Given the description of an element on the screen output the (x, y) to click on. 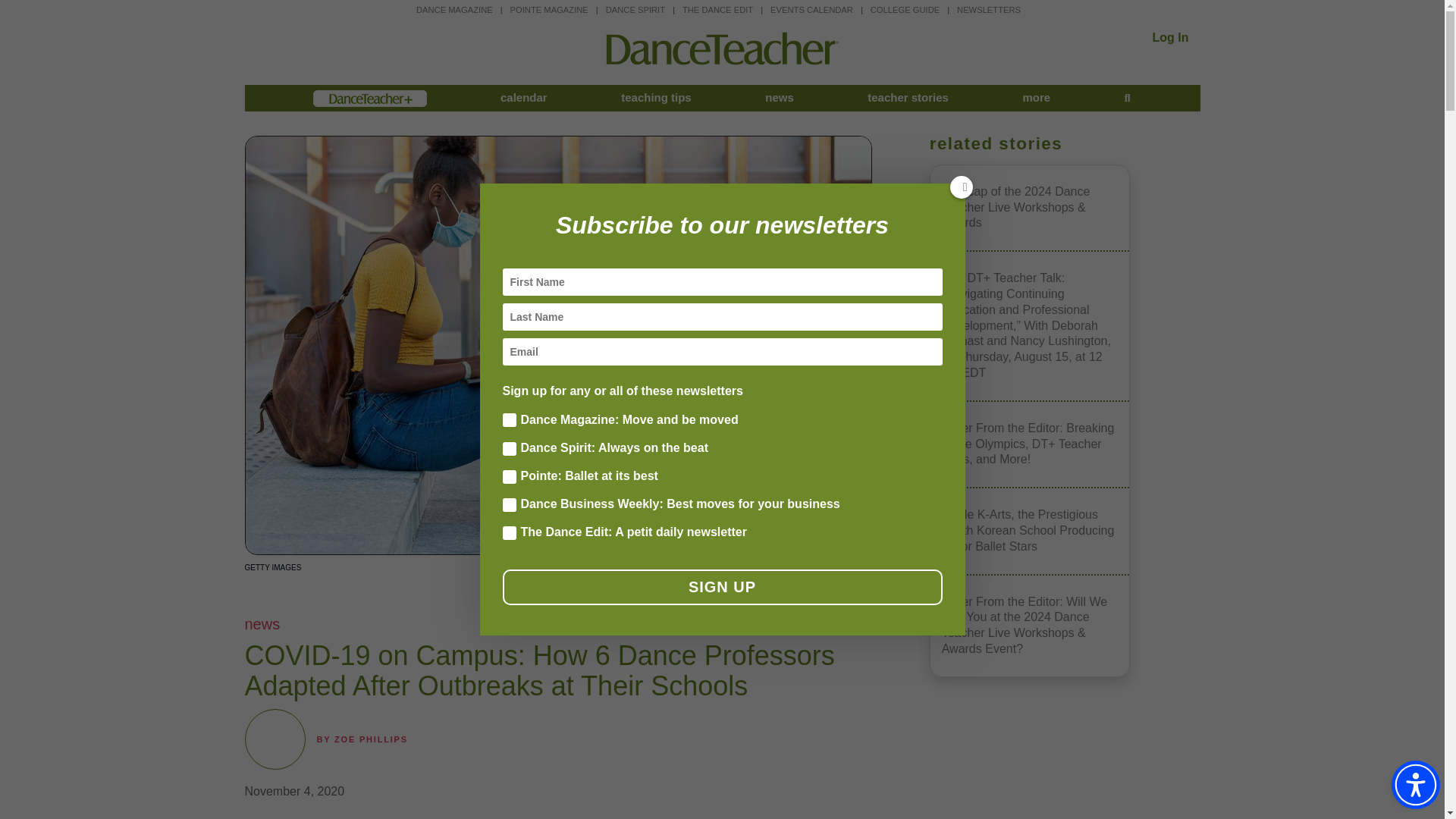
THE DANCE EDIT (717, 9)
COLLEGE GUIDE (904, 9)
Members (369, 98)
Log In (1171, 37)
Share on Twitter (676, 593)
teaching tips (656, 98)
POINTE MAGAZINE (549, 9)
news (779, 98)
EVENTS CALENDAR (811, 9)
